Given the description of an element on the screen output the (x, y) to click on. 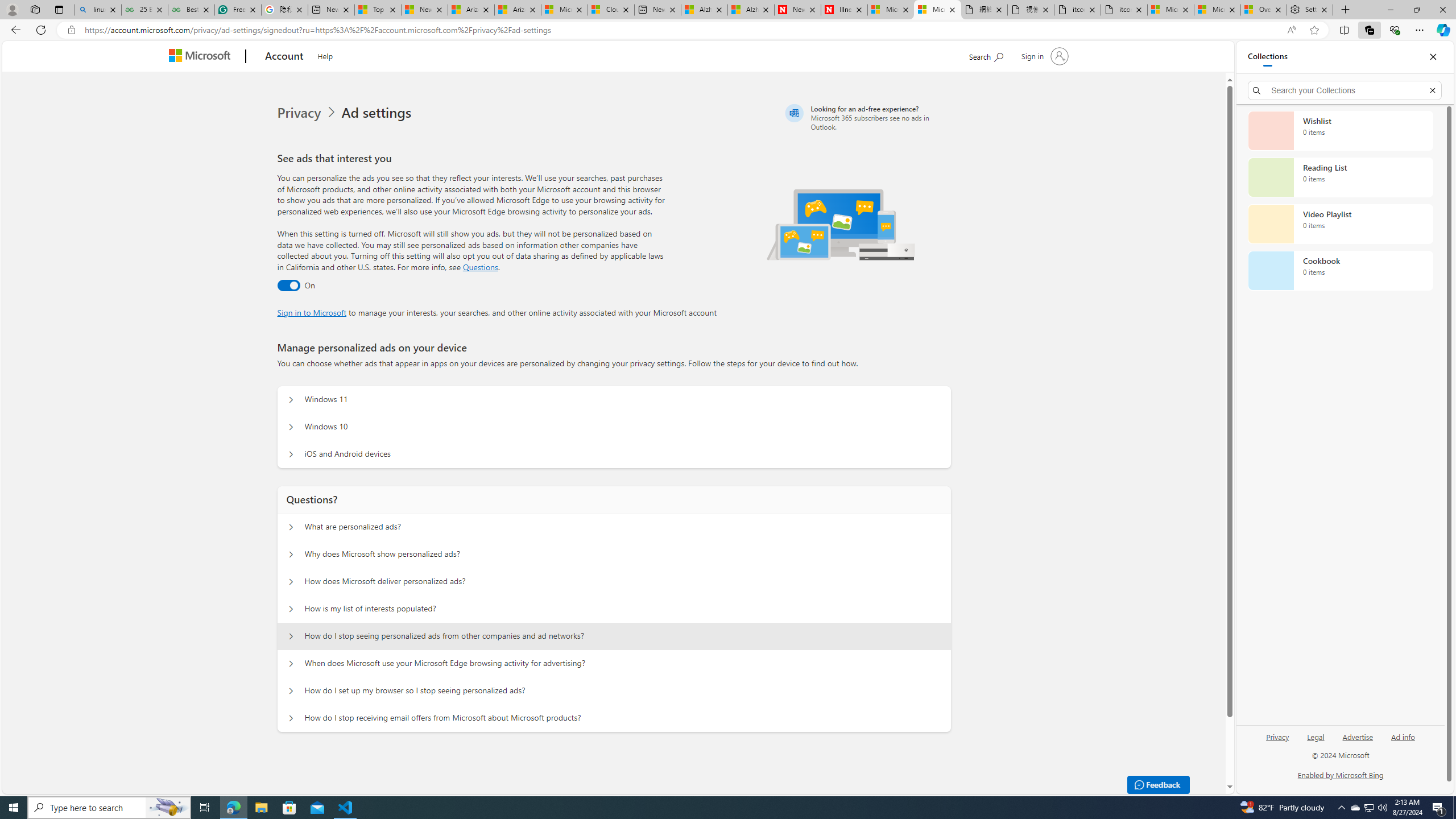
Ad settings toggle (287, 285)
Free AI Writing Assistance for Students | Grammarly (237, 9)
Wishlist collection, 0 items (1339, 130)
Reading List collection, 0 items (1339, 177)
Questions? Why does Microsoft show personalized ads? (290, 554)
Questions? What are personalized ads? (290, 526)
